Given the description of an element on the screen output the (x, y) to click on. 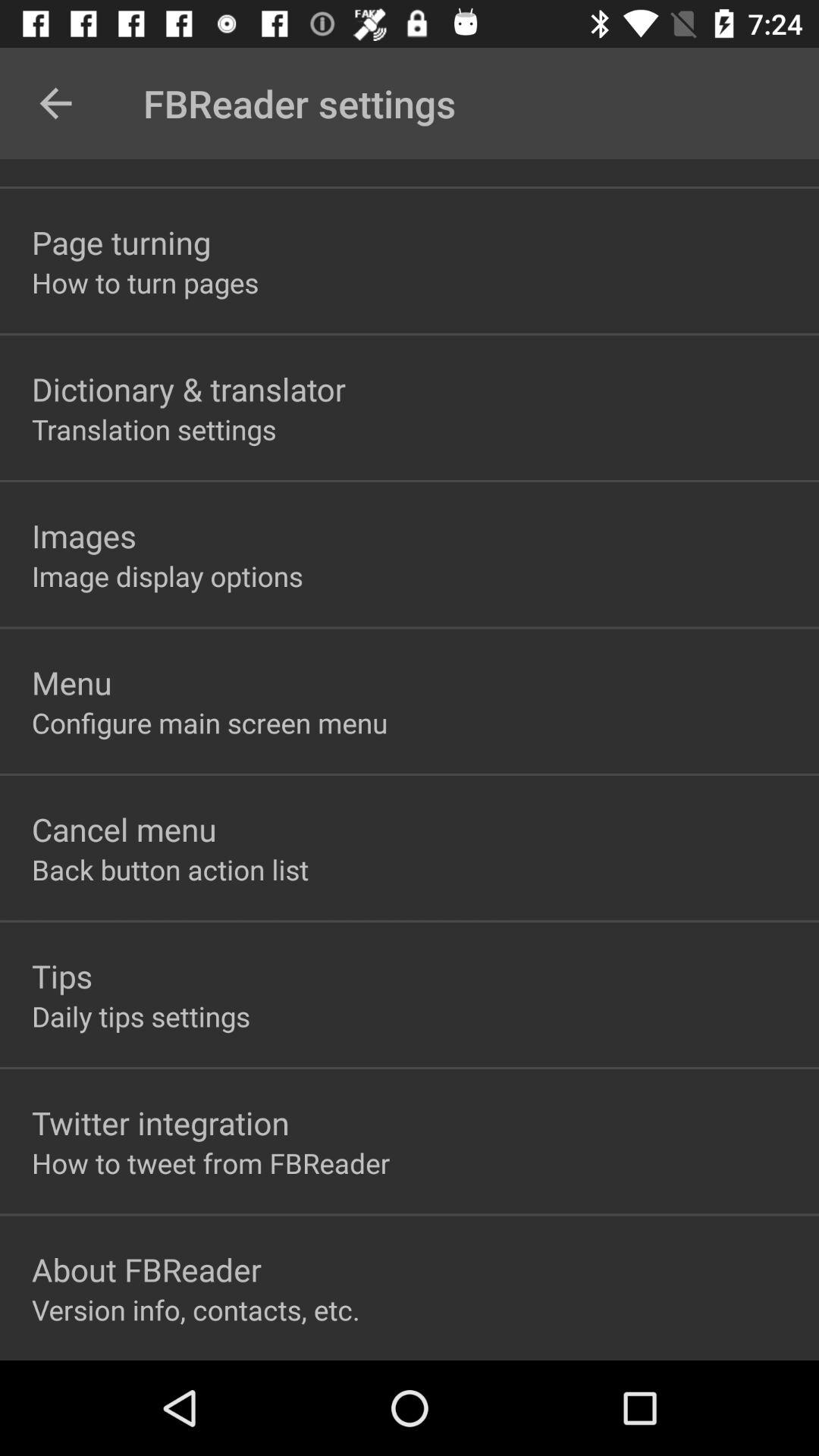
jump until the image display options item (167, 575)
